Given the description of an element on the screen output the (x, y) to click on. 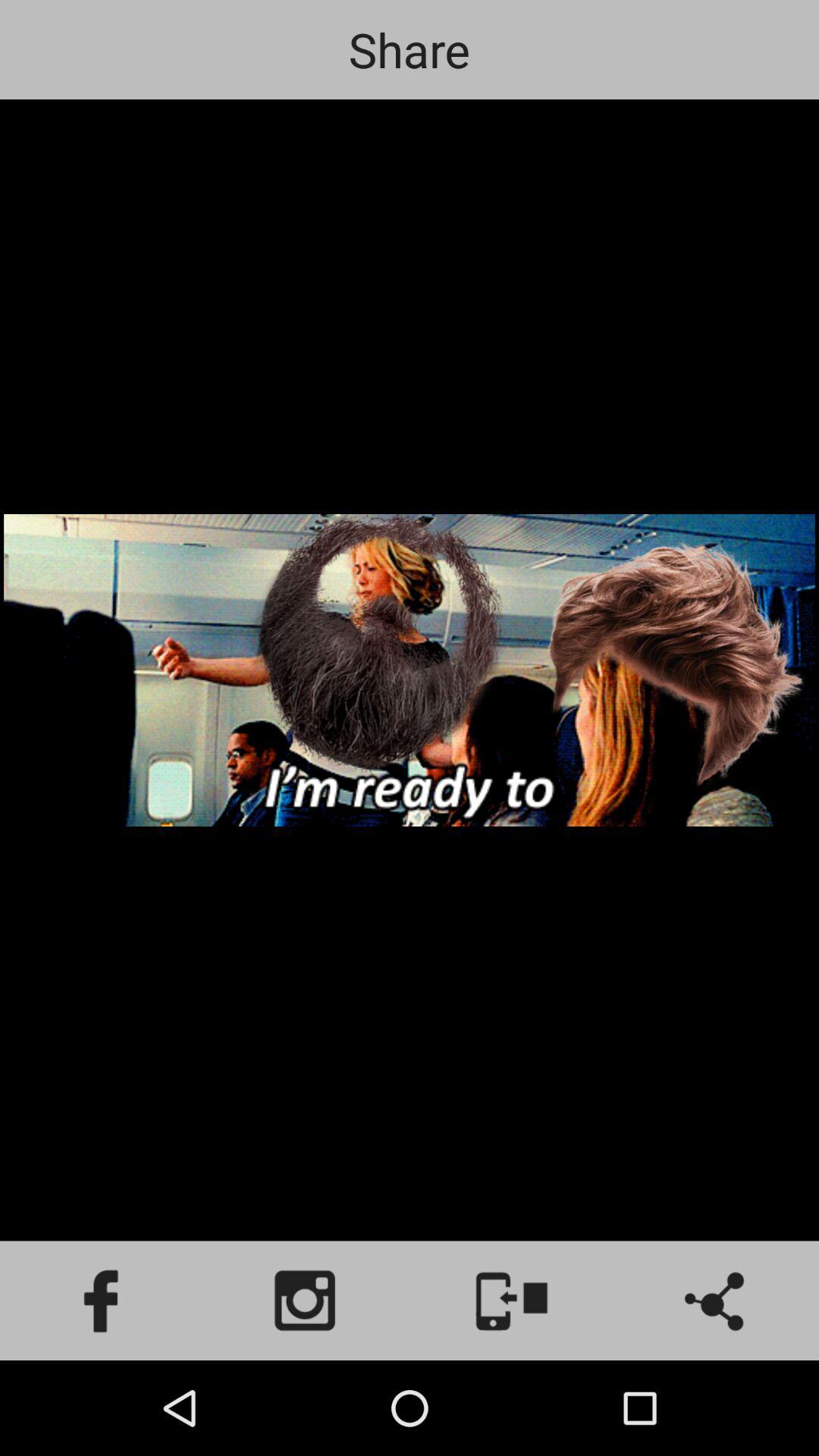
facebook (102, 1300)
